Given the description of an element on the screen output the (x, y) to click on. 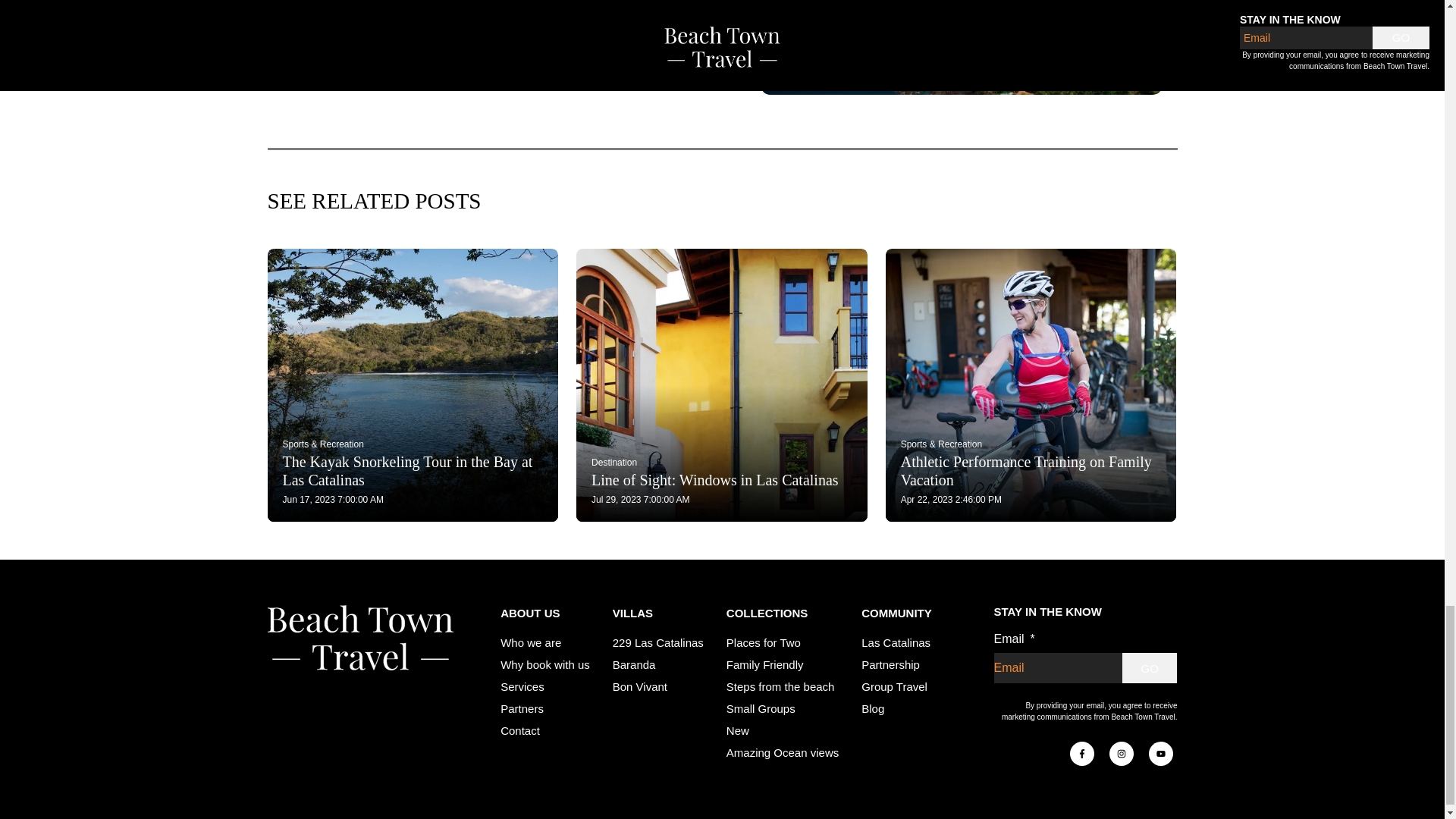
Who we are (530, 642)
logo (359, 637)
ABOUT US (544, 613)
Line of Sight: Windows in Las Catalinas (721, 479)
New (737, 730)
Las Catalinas (895, 642)
Baranda (634, 664)
The Kayak Snorkeling Tour in the Bay at Las Catalinas (412, 470)
Athletic Performance Training on Family Vacation (1031, 470)
Family Friendly (764, 664)
COMMUNITY (896, 613)
Get Ebook (846, 37)
Small Groups (760, 707)
Amazing Ocean views (782, 752)
Contact (520, 730)
